Given the description of an element on the screen output the (x, y) to click on. 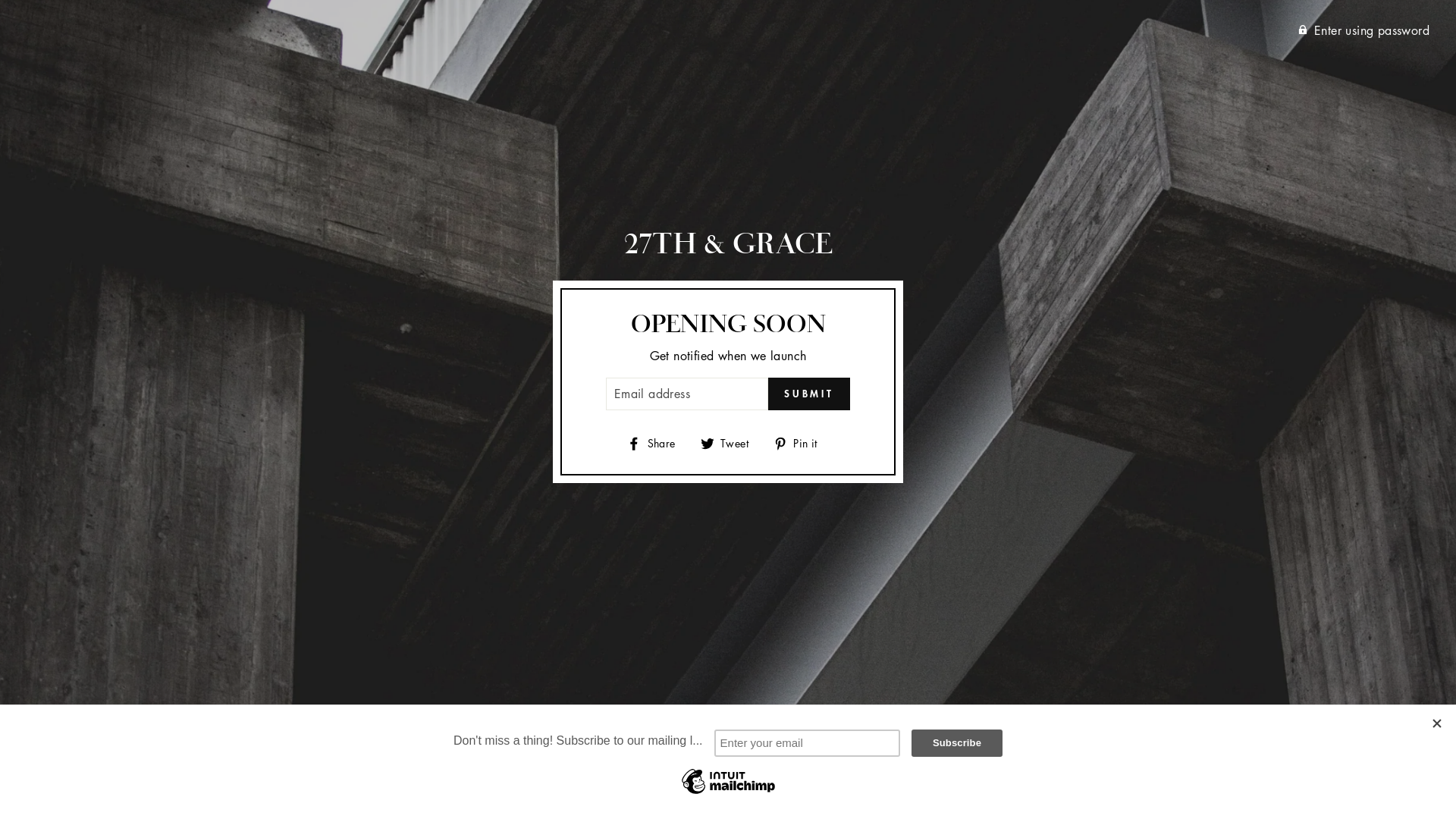
SUBMIT Element type: text (809, 394)
Pin it
Pin on Pinterest Element type: text (800, 442)
Enter using password Element type: text (720, 30)
Share
Share on Facebook Element type: text (656, 442)
Tweet
Tweet on Twitter Element type: text (729, 442)
Shopify Element type: text (810, 795)
